Given the description of an element on the screen output the (x, y) to click on. 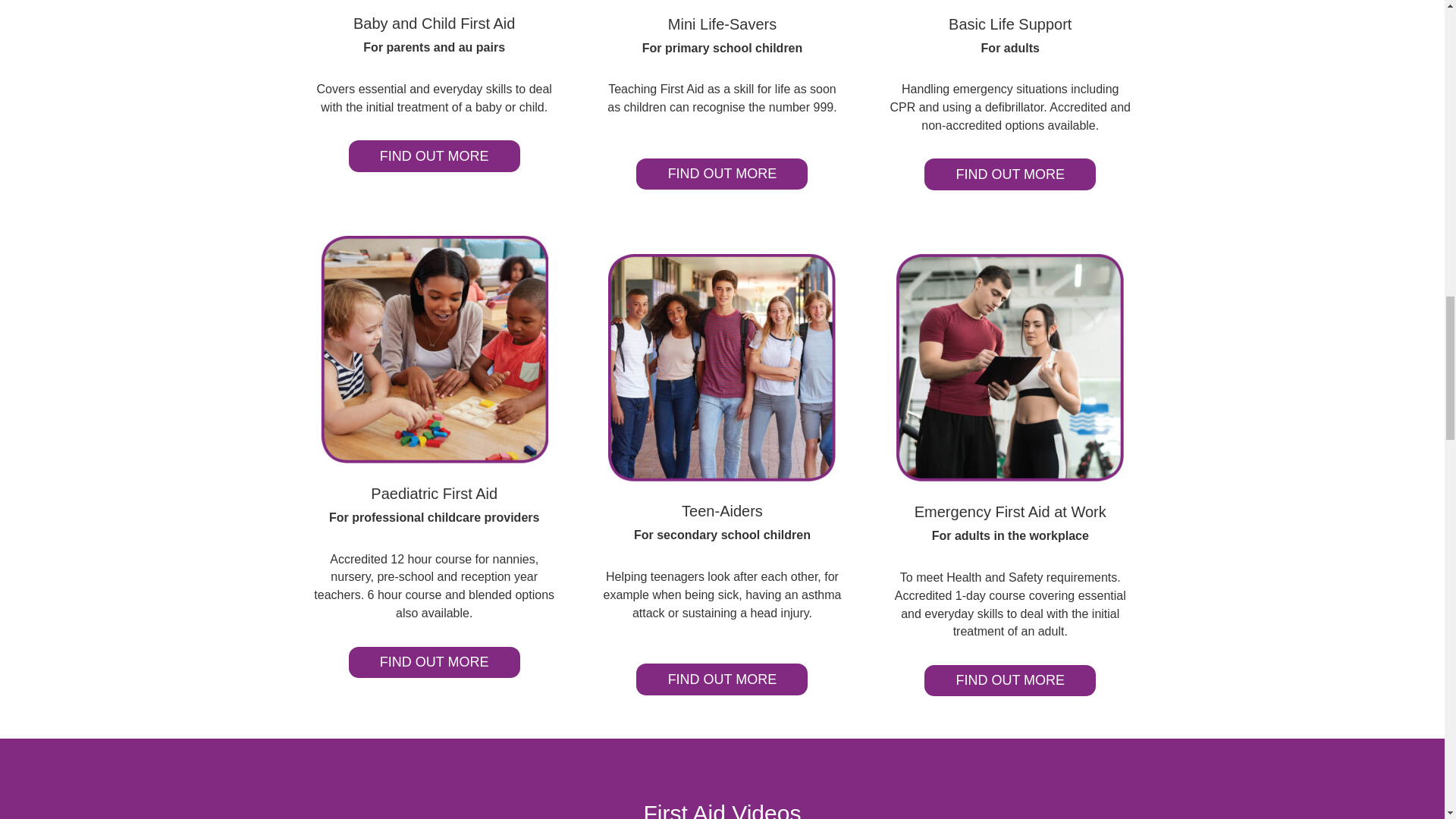
Emergency Paediatric First Aid (434, 349)
Teen-Aiders first aid courses (721, 367)
Emergency First Aid at Work (1010, 367)
